Given the description of an element on the screen output the (x, y) to click on. 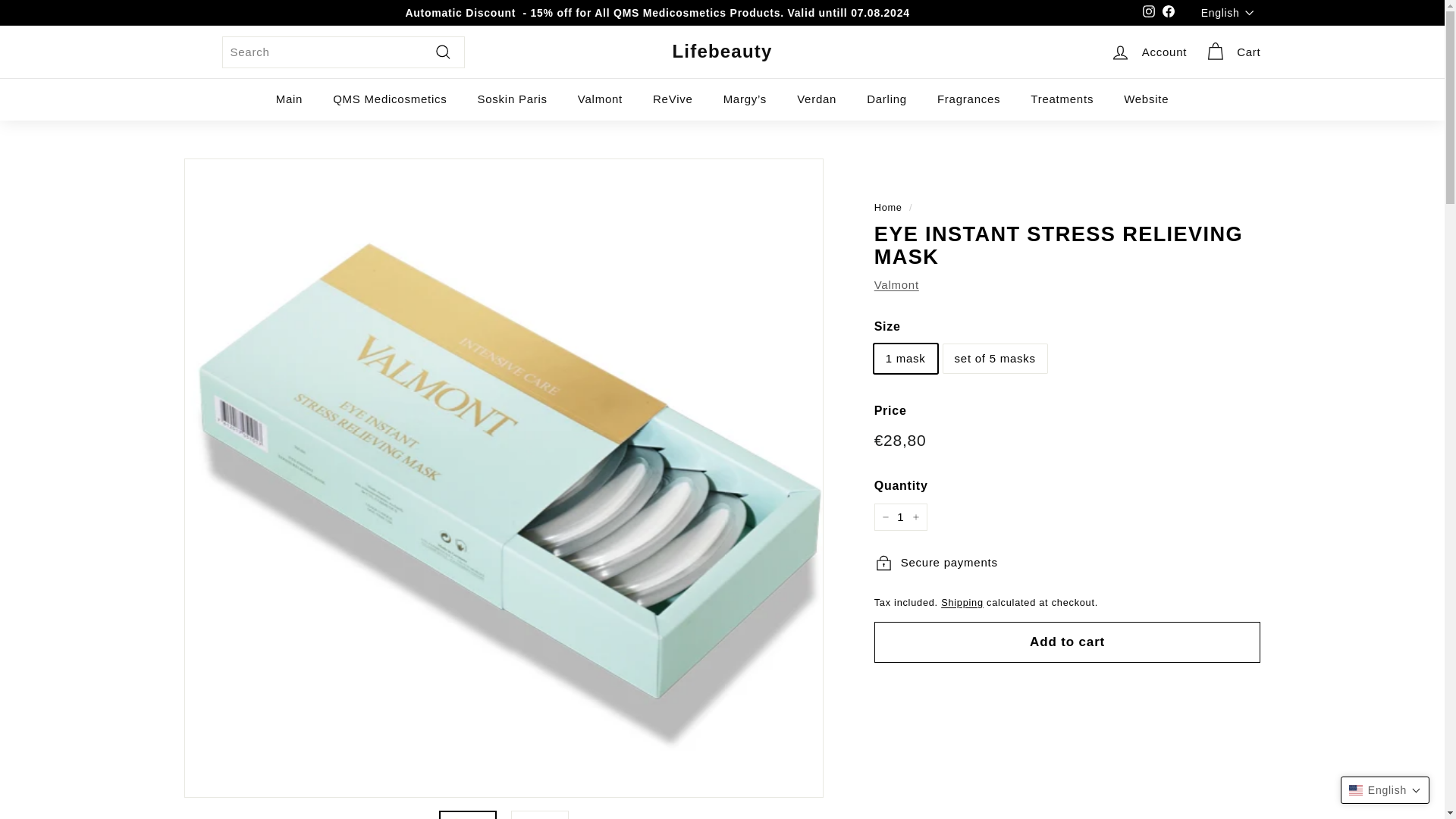
Main (289, 98)
English (1230, 12)
1 (901, 516)
Lifebeauty (721, 50)
Back to the frontpage (888, 206)
Valmont (896, 284)
Account (1147, 51)
